Given the description of an element on the screen output the (x, y) to click on. 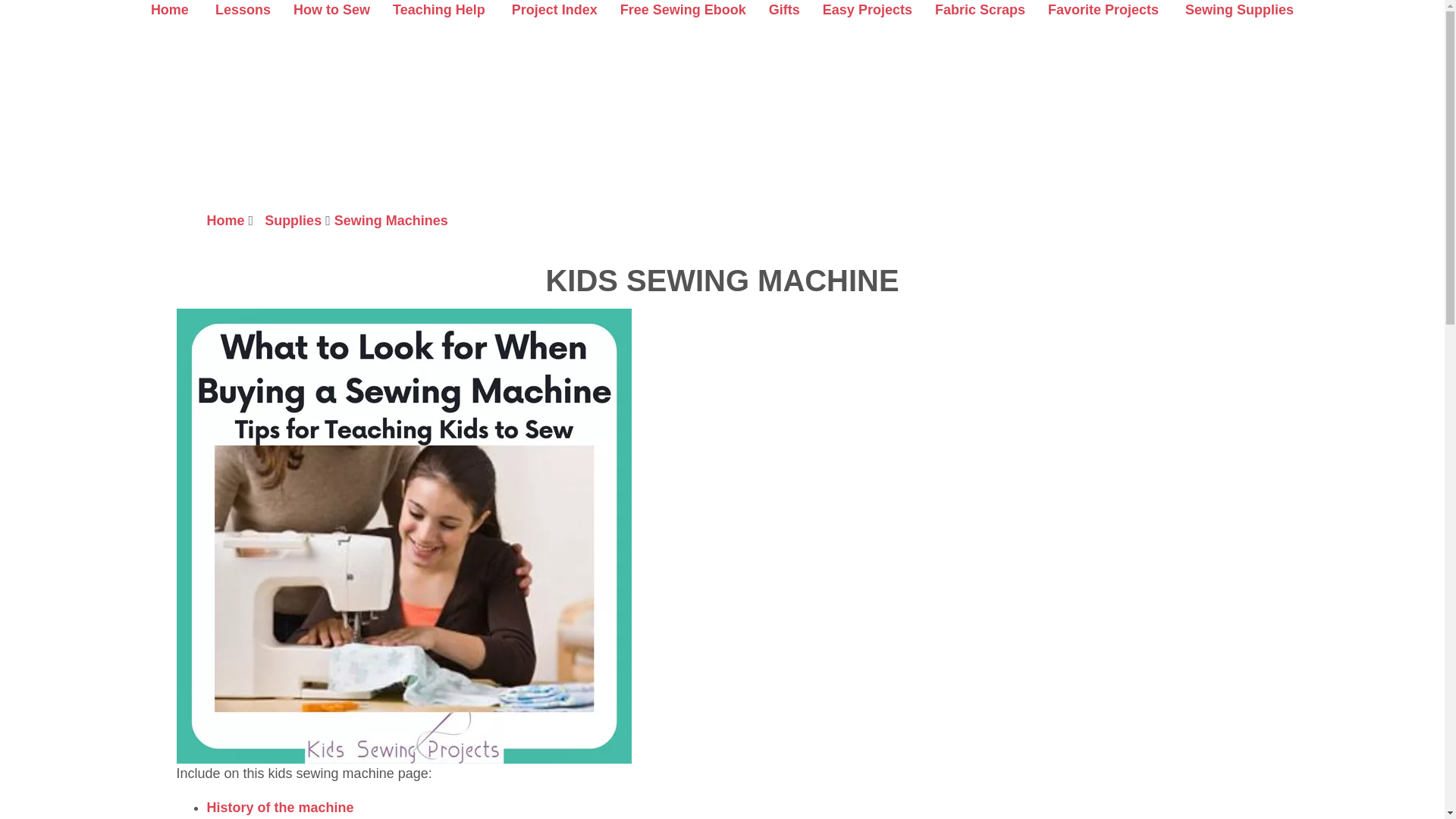
Fabric Scraps (979, 9)
Teaching Help (438, 9)
How to Sew (331, 9)
Sewing Supplies (1237, 9)
Lessons (242, 9)
Sewing Machines (391, 220)
Gifts (783, 9)
Supplies (292, 220)
Home (170, 9)
Easy Projects (867, 9)
